Given the description of an element on the screen output the (x, y) to click on. 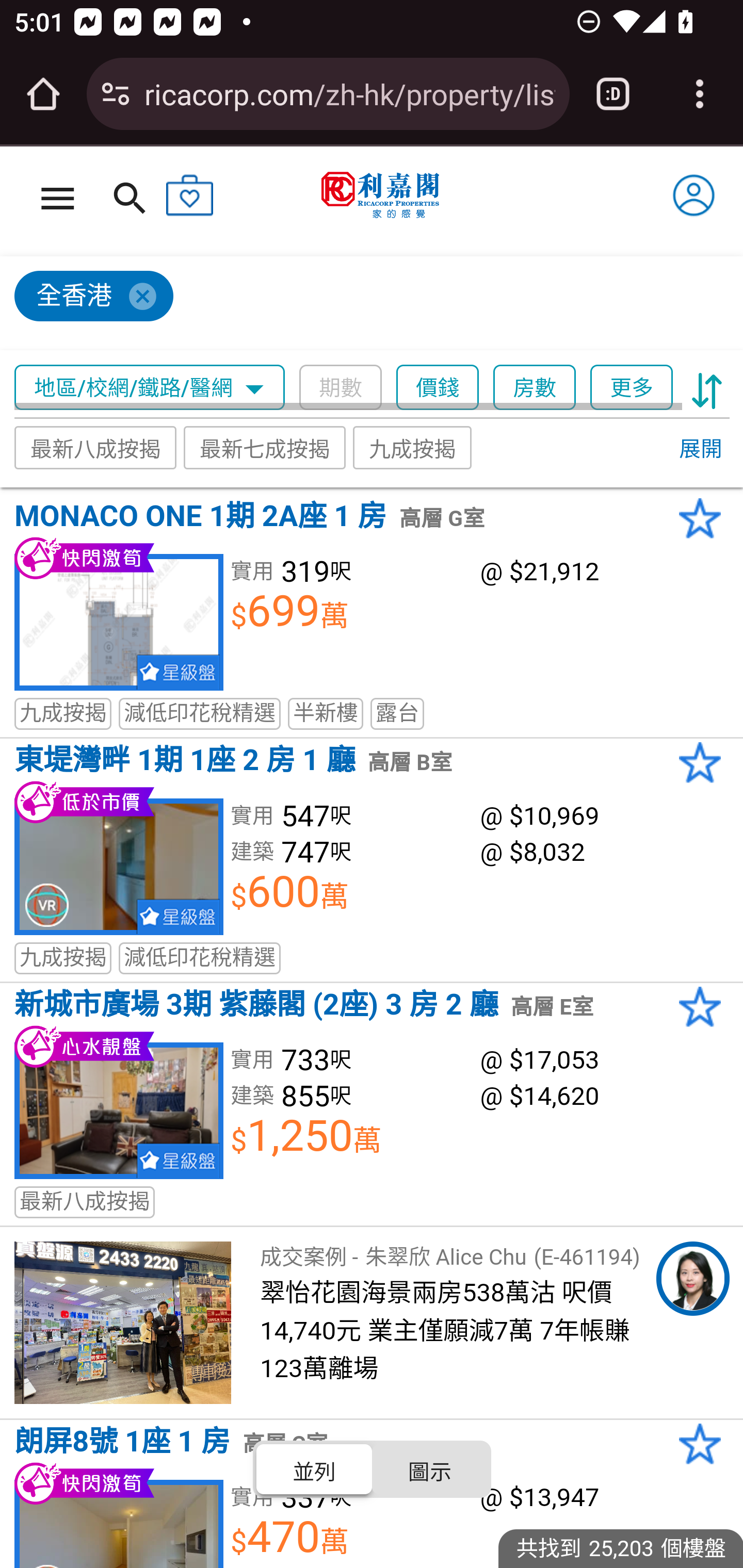
Open the home page (43, 93)
Connection is secure (115, 93)
Switch or close tabs (612, 93)
Customize and control Google Chrome (699, 93)
ricacorp.com/zh-hk/property/list/buy (349, 92)
全香港 (363, 304)
地區/校網/鐵路/醫網 (149, 387)
期數 (339, 387)
價錢 (437, 387)
房數 (535, 387)
更多 (630, 387)
sort (706, 387)
最新八成按揭 (96, 446)
最新七成按揭 (264, 446)
九成按揭 (412, 446)
並列 (314, 1468)
圖示 (429, 1468)
